Given the description of an element on the screen output the (x, y) to click on. 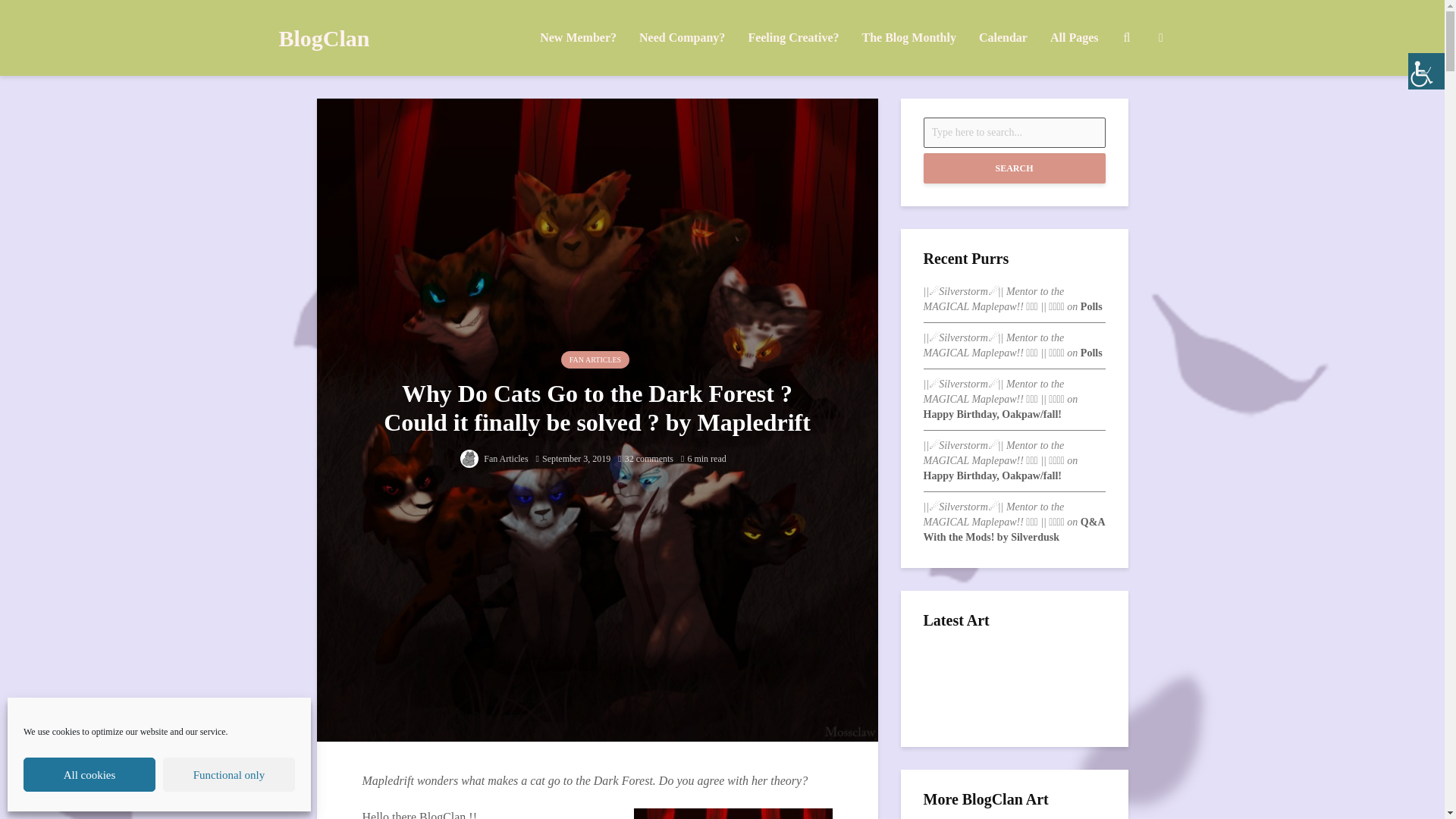
All cookies (89, 774)
BlogClan (324, 37)
Functional only (229, 774)
New Member? (577, 37)
